Given the description of an element on the screen output the (x, y) to click on. 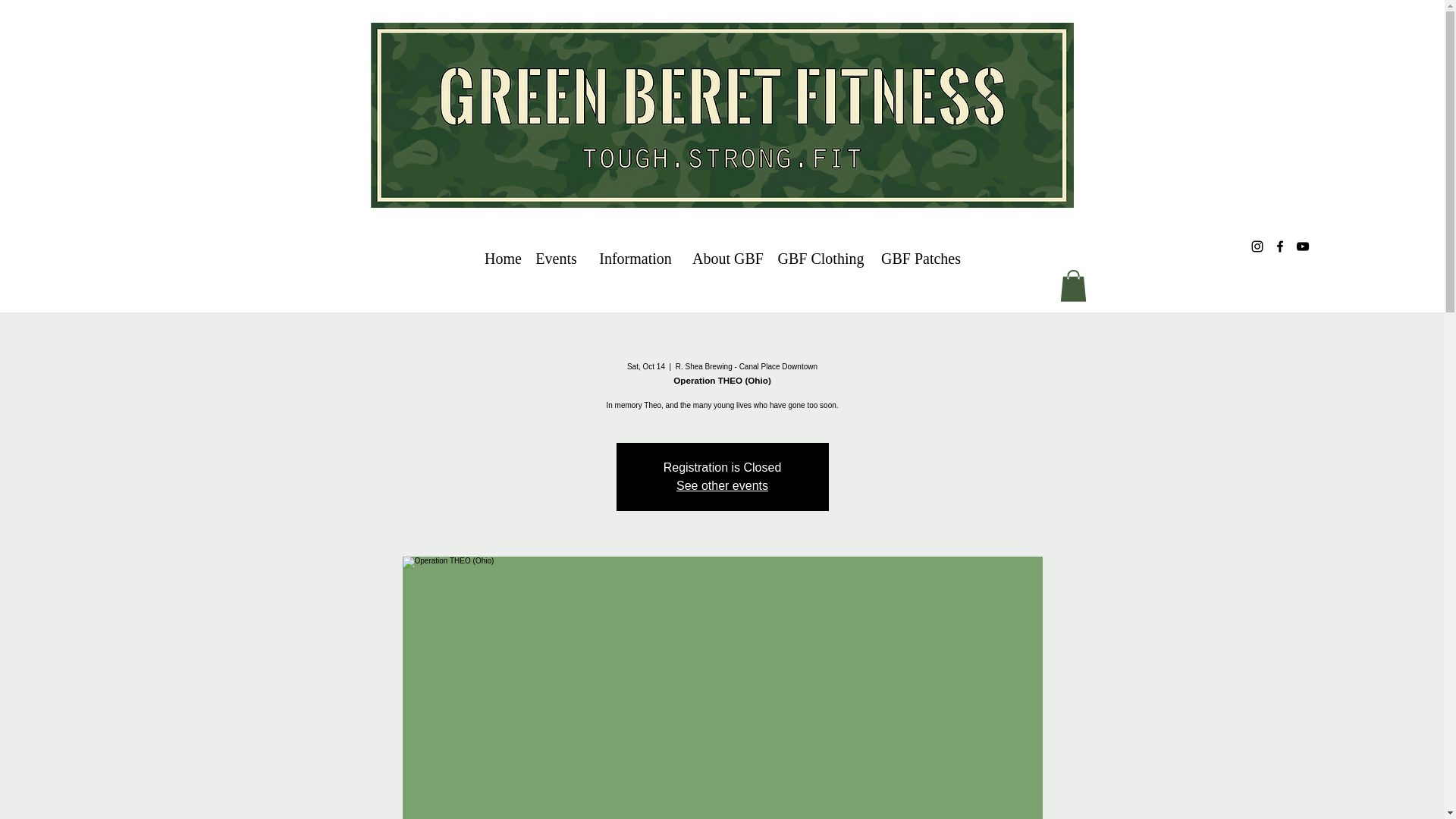
See other events (722, 485)
GBF Clothing (820, 258)
Information (635, 258)
About GBF (726, 258)
GBF Patches (920, 258)
Home (501, 258)
Events (555, 258)
